Given the description of an element on the screen output the (x, y) to click on. 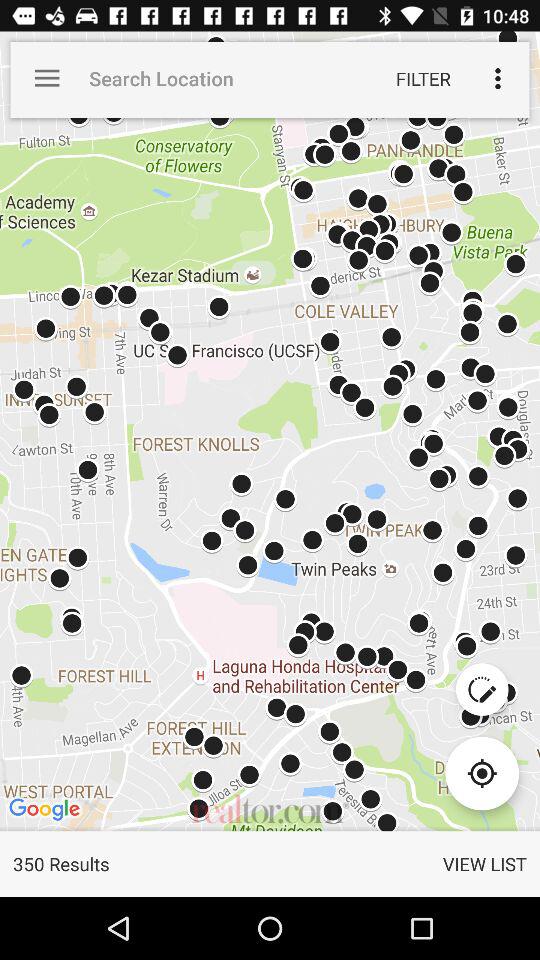
turn off the app to the left of the search location item (47, 78)
